Given the description of an element on the screen output the (x, y) to click on. 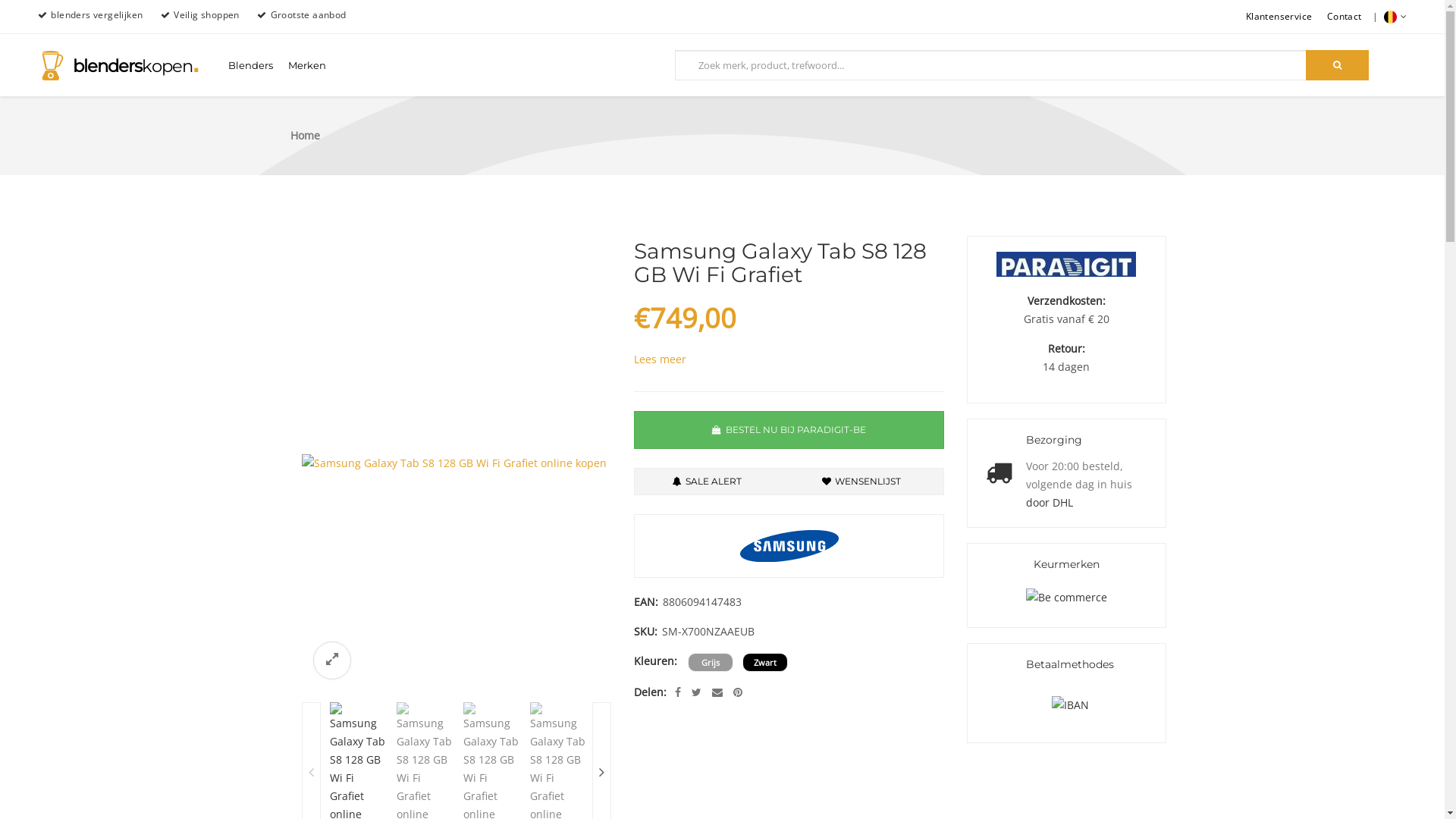
BESTEL NU BIJ PARADIGIT-BE Element type: text (788, 429)
Contact Element type: text (1344, 16)
Home Element type: text (304, 135)
Blenders Element type: text (250, 65)
WENSENLIJST Element type: text (860, 481)
blenderskopen. Element type: text (118, 72)
SALE ALERT Element type: text (706, 481)
Klantenservice Element type: text (1278, 16)
Lees meer Element type: text (659, 358)
Merken Element type: text (306, 65)
